Given the description of an element on the screen output the (x, y) to click on. 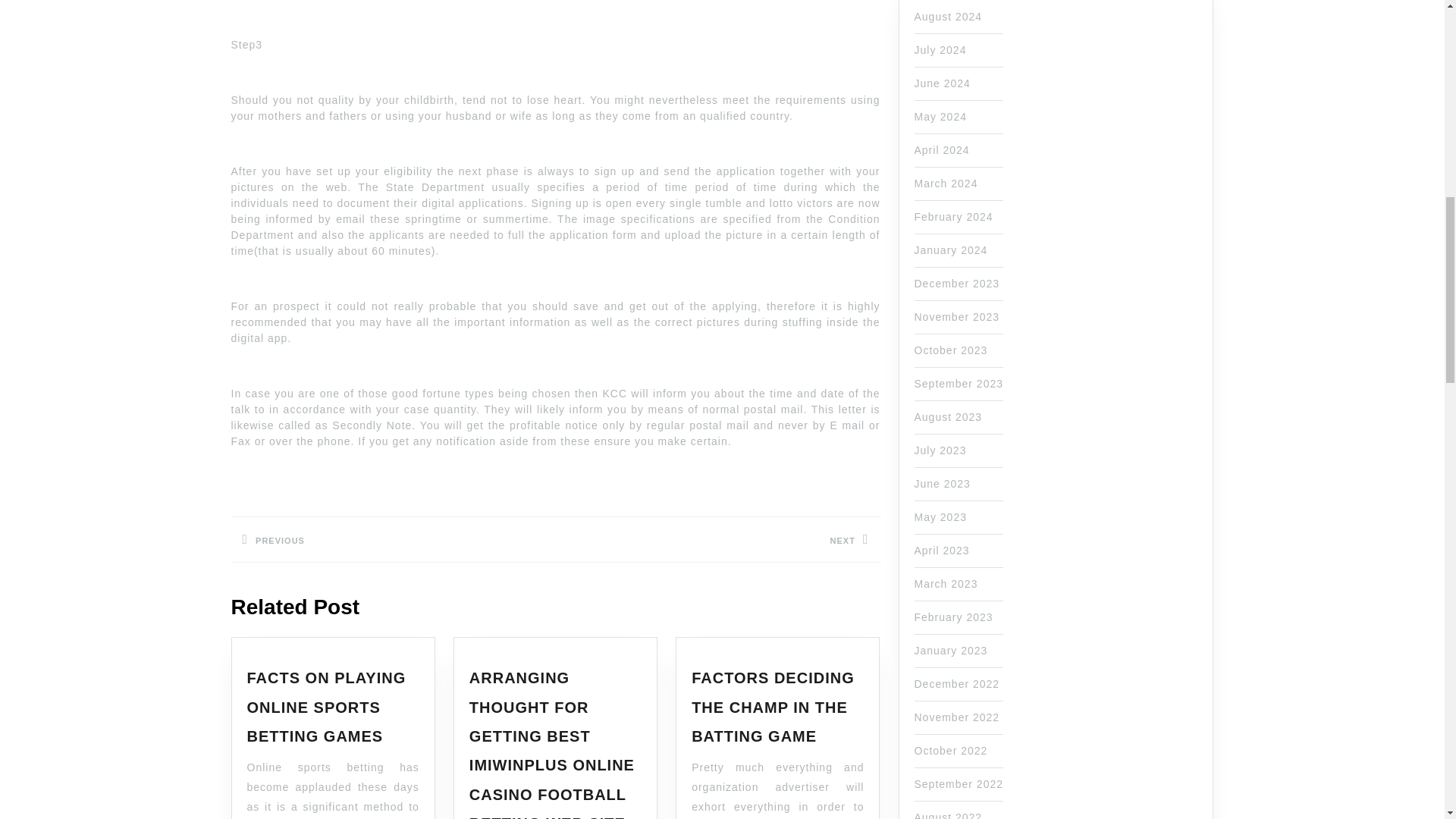
Factors deciding the champ in the batting game (772, 706)
February 2024 (392, 539)
July 2024 (953, 216)
May 2024 (940, 50)
March 2024 (940, 116)
August 2024 (946, 183)
